Given the description of an element on the screen output the (x, y) to click on. 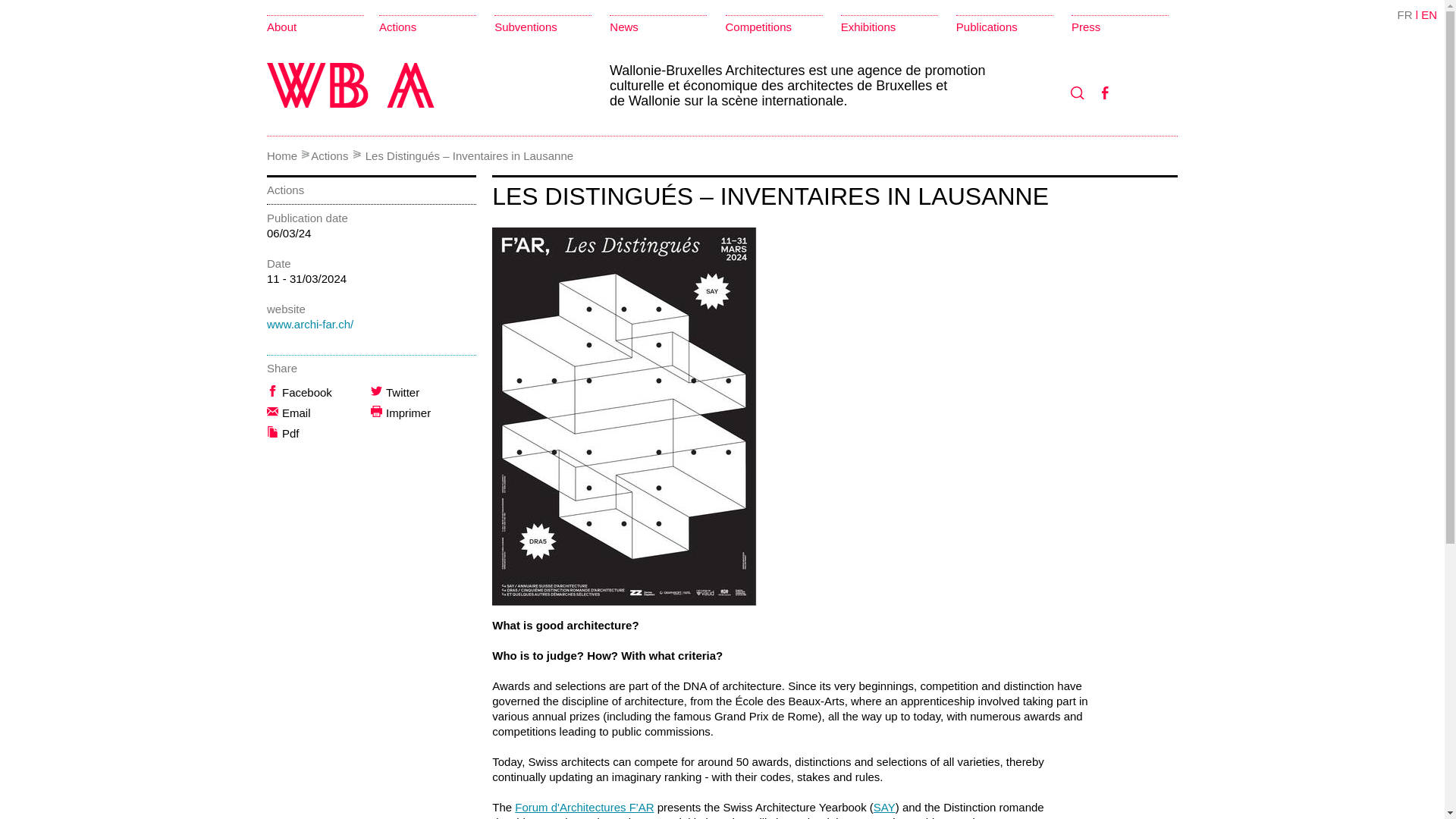
Forum d'Architectures F'AR (584, 807)
Exhibitions (868, 26)
Click to share this post on Twitter (429, 392)
facebook (1109, 93)
Actions (329, 155)
Facebook (326, 392)
Email (326, 412)
Home (281, 155)
Press (1085, 26)
Actions (397, 26)
Subventions (526, 26)
SAY (884, 807)
News (624, 26)
DRA5 (581, 817)
Pdf (326, 433)
